Given the description of an element on the screen output the (x, y) to click on. 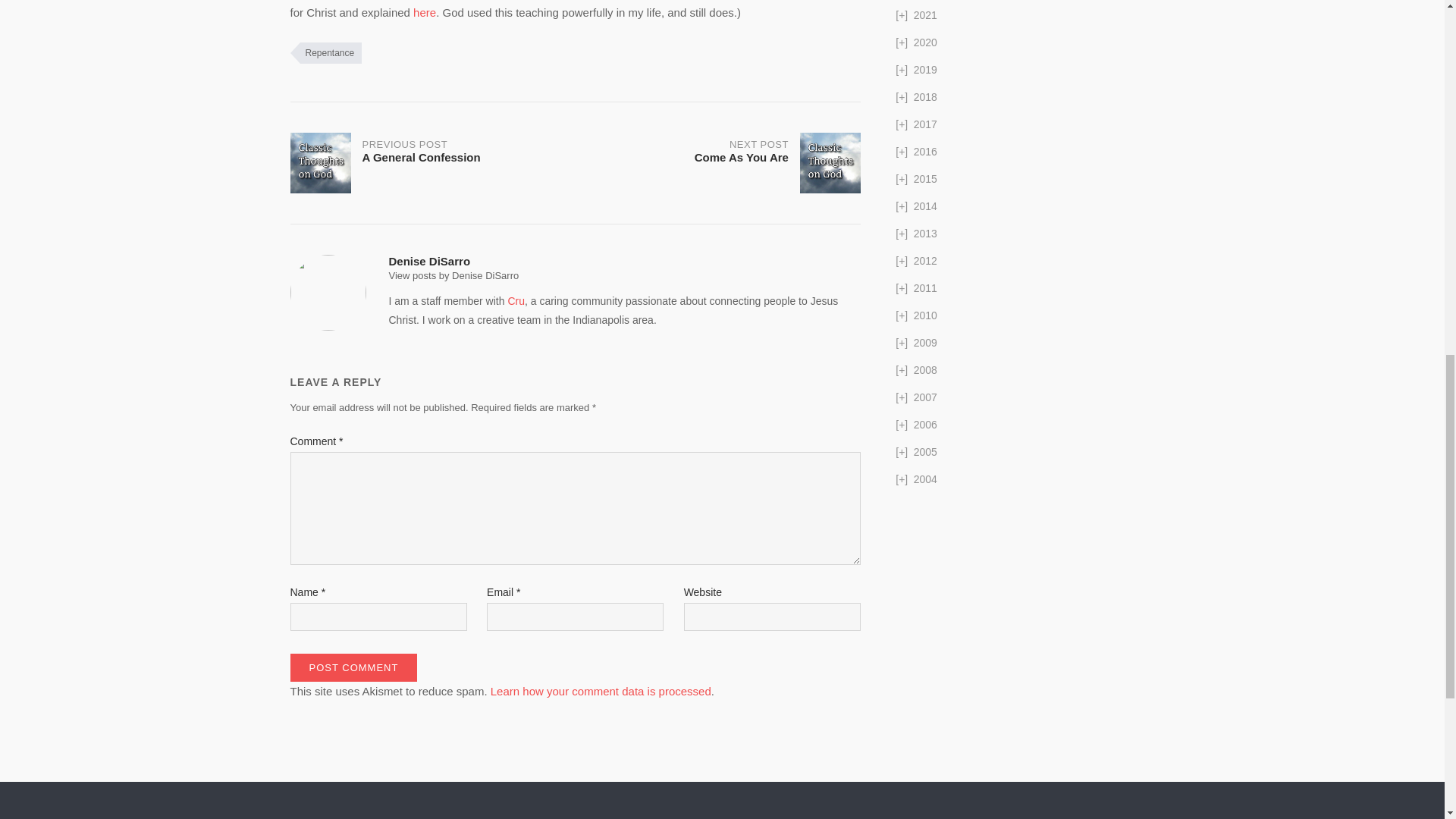
View posts by Denise DiSarro (453, 275)
here (424, 11)
Learn how your comment data is processed (432, 162)
Post Comment (717, 162)
Cru (600, 690)
Repentance (352, 667)
Post Comment (515, 300)
